Given the description of an element on the screen output the (x, y) to click on. 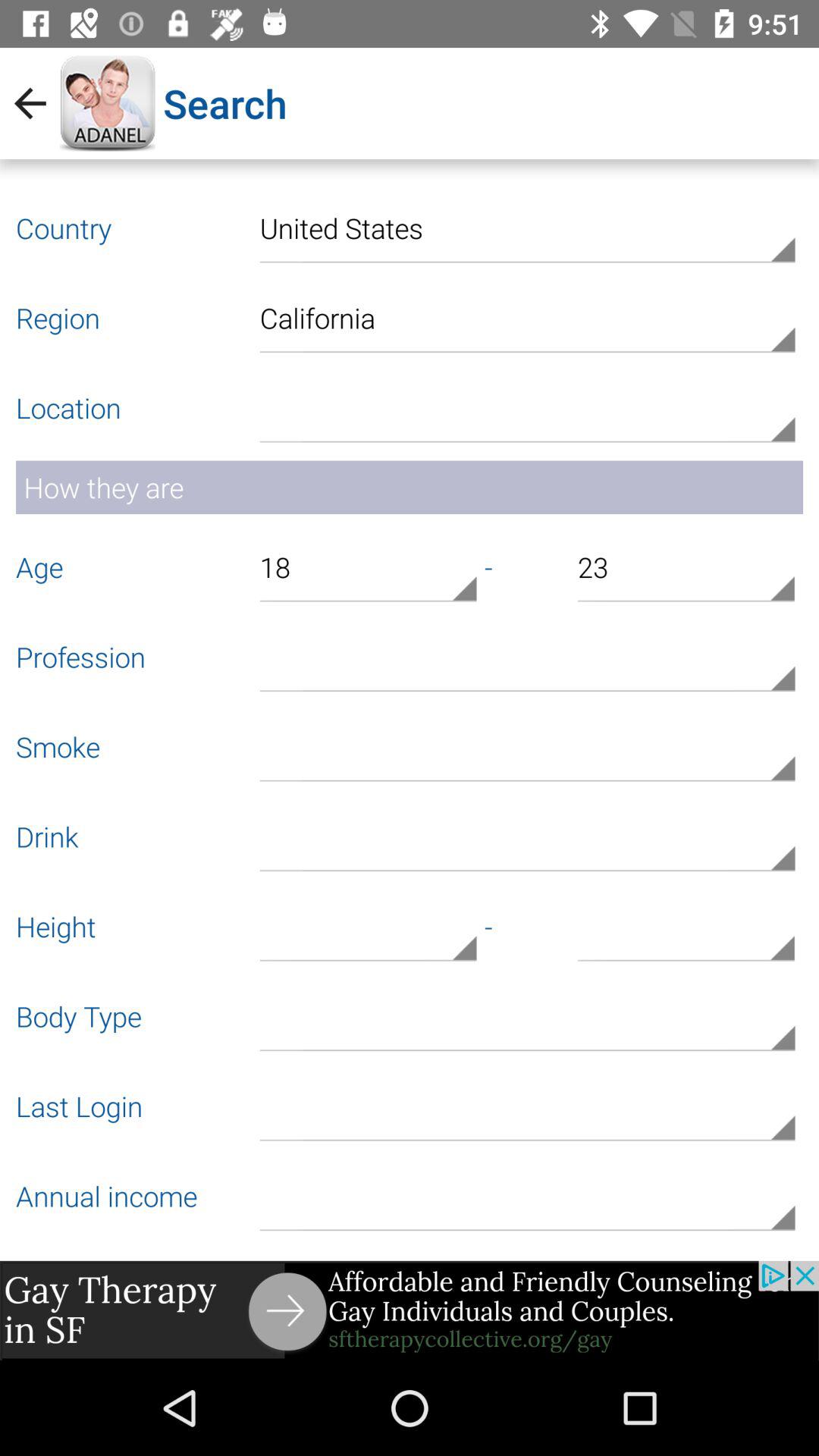
click on the text beside the region (527, 315)
